Given the description of an element on the screen output the (x, y) to click on. 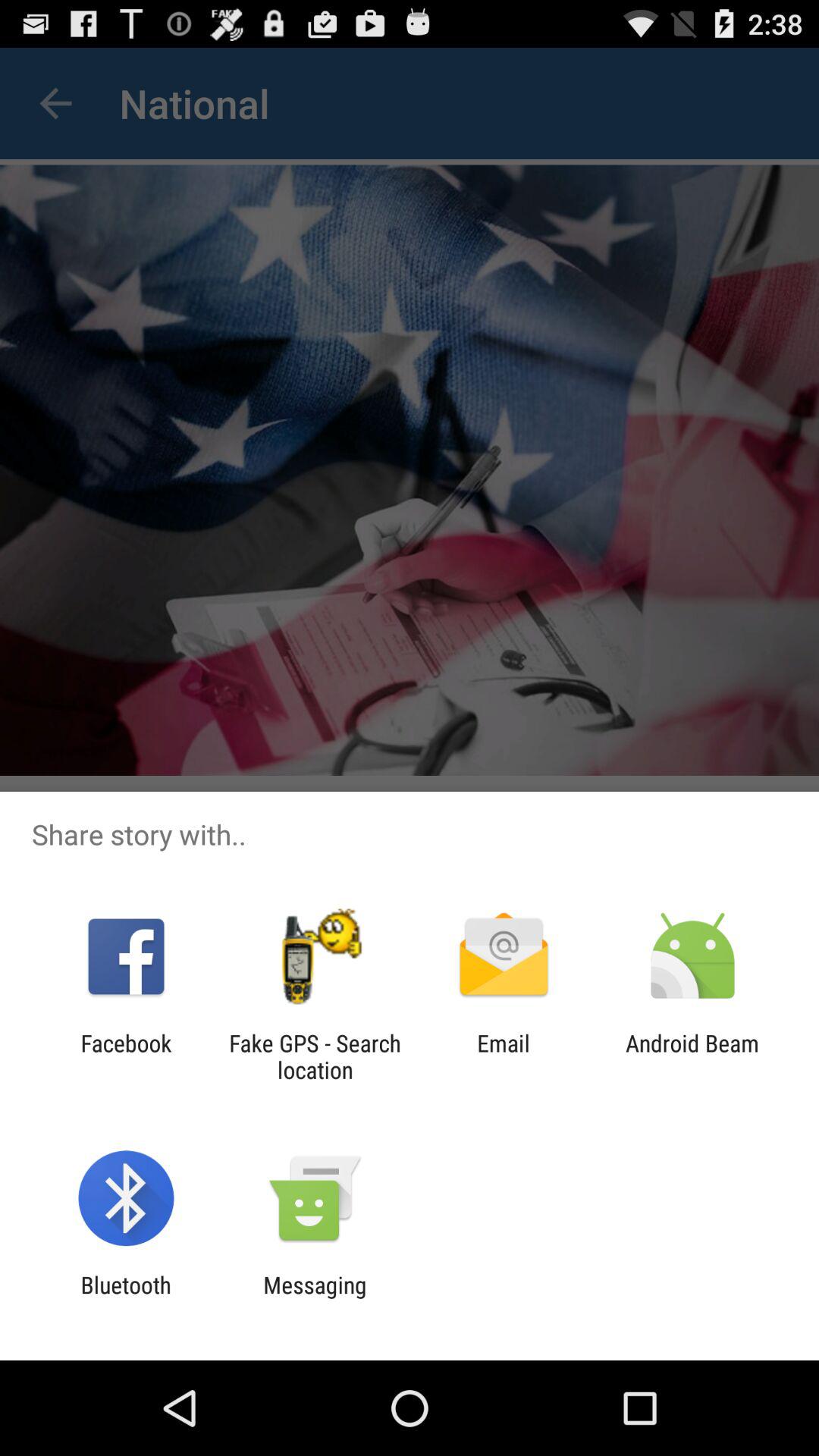
tap the app to the right of facebook item (314, 1056)
